Given the description of an element on the screen output the (x, y) to click on. 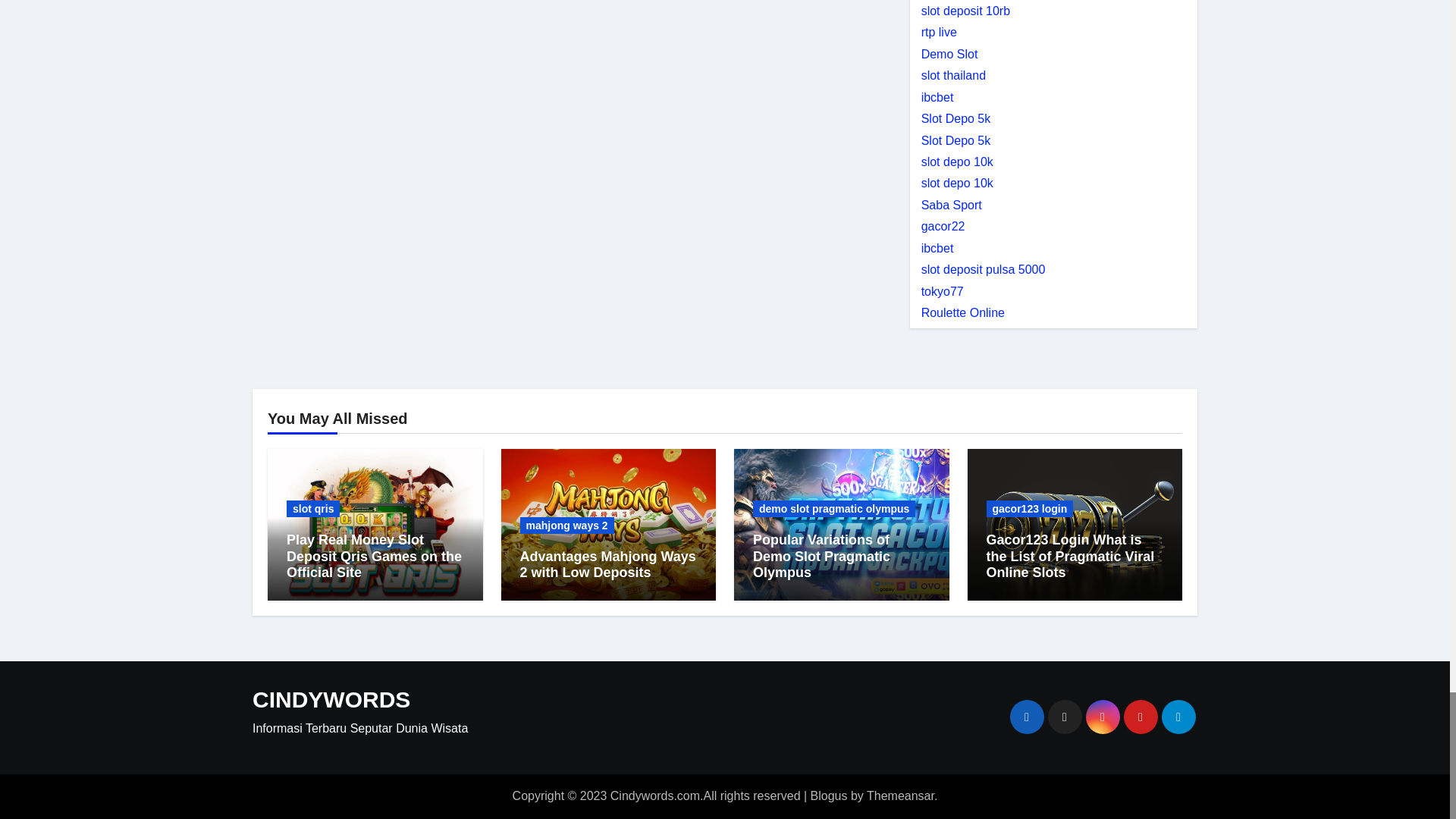
Permalink to: Advantages Mahjong Ways 2 with Low Deposits (607, 564)
